Given the description of an element on the screen output the (x, y) to click on. 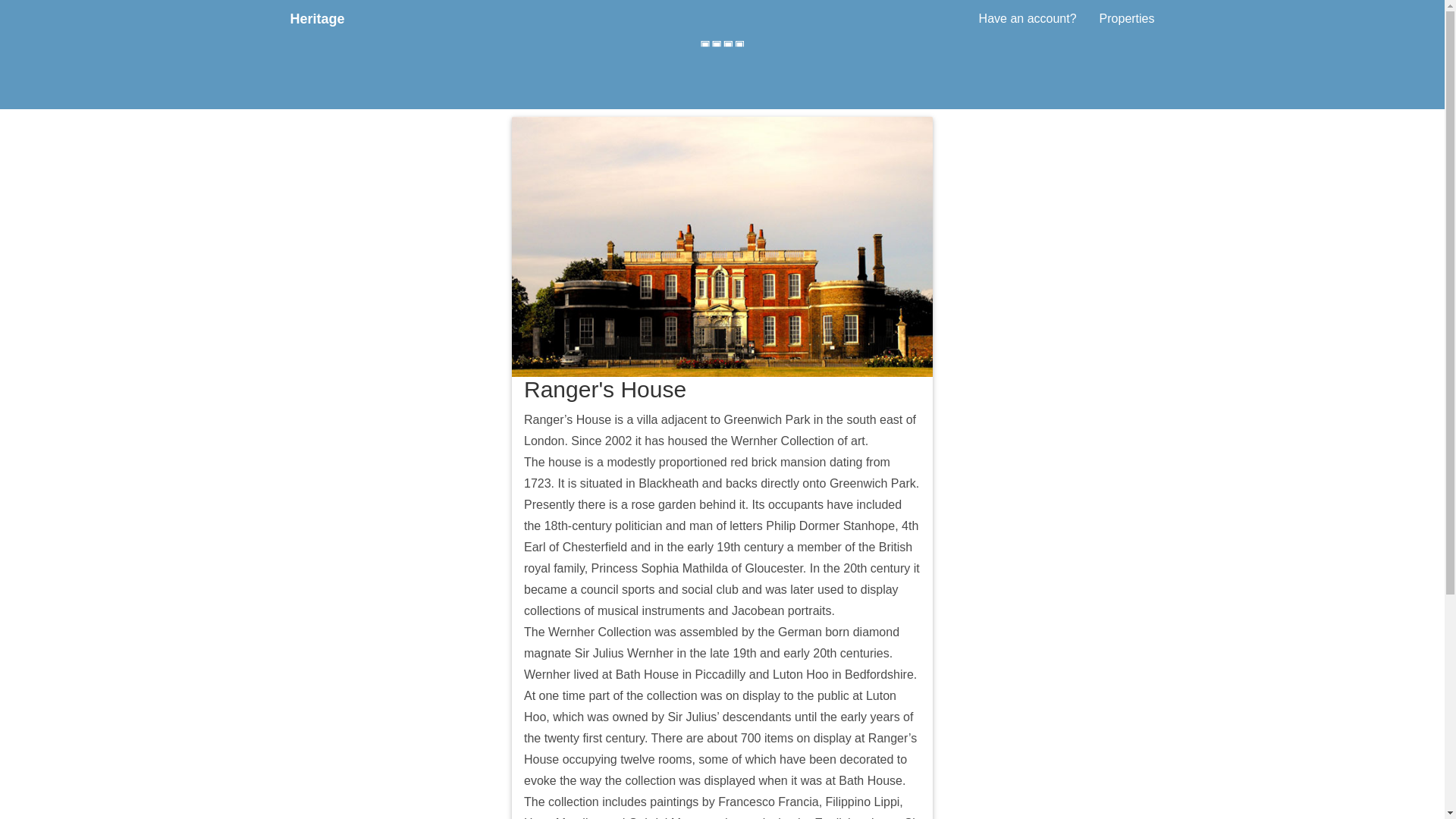
Have an account? (1027, 18)
Properties (1126, 18)
Heritage (317, 18)
